Given the description of an element on the screen output the (x, y) to click on. 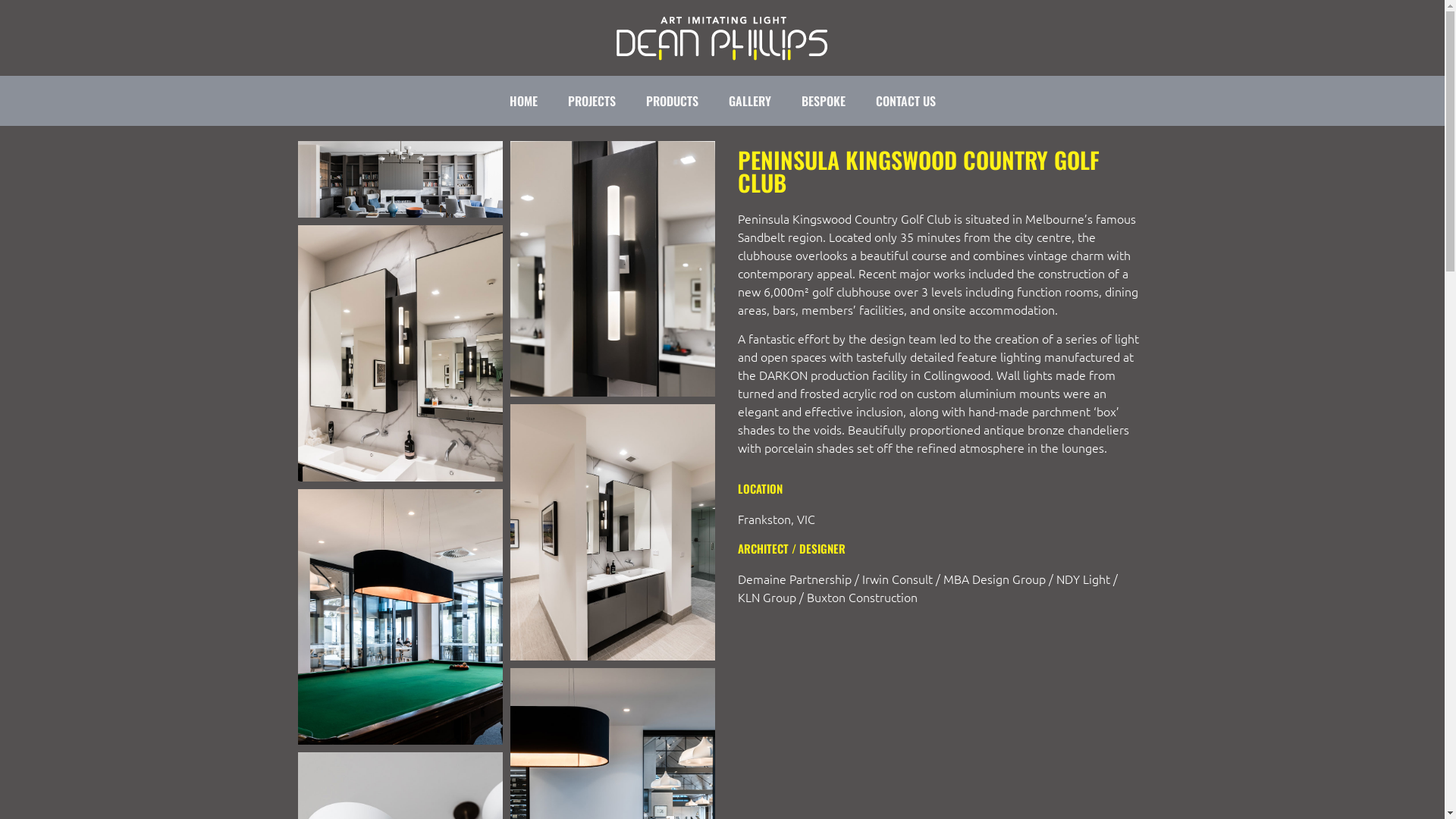
BESPOKE Element type: text (822, 100)
PROJECTS Element type: text (591, 100)
GALLERY Element type: text (748, 100)
HOME Element type: text (523, 100)
PRODUCTS Element type: text (671, 100)
CONTACT US Element type: text (904, 100)
